Given the description of an element on the screen output the (x, y) to click on. 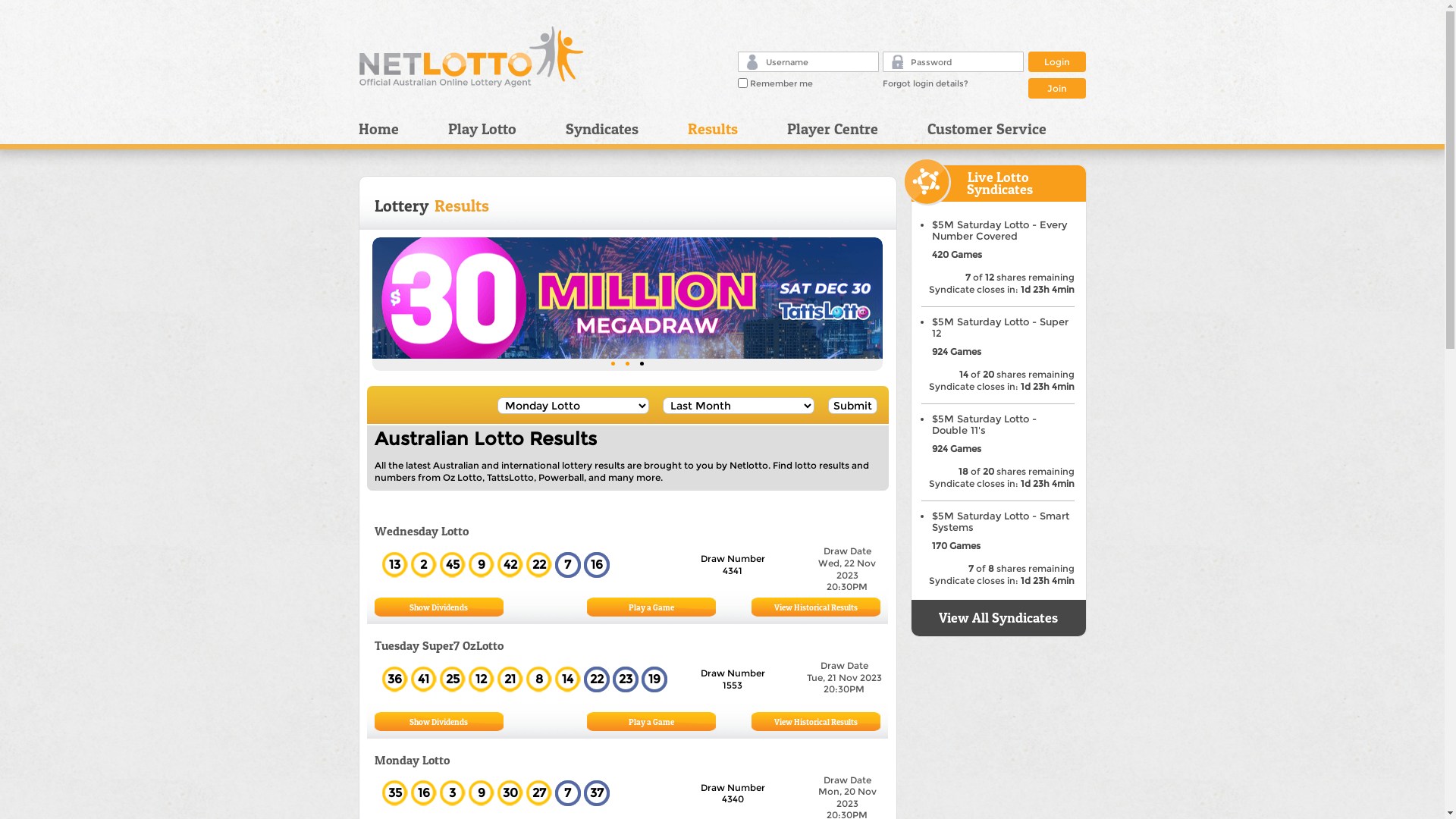
Results Element type: text (725, 128)
Customer Service Element type: text (981, 128)
Player Centre Element type: text (845, 128)
Play a Game Element type: text (650, 721)
Password Element type: hover (897, 61)
$5M Saturday Lotto - Every Number Covered Element type: text (998, 230)
$5M Saturday Lotto - Super 12 Element type: text (999, 327)
View Historical Results Element type: text (815, 721)
View Historical Results Element type: text (815, 606)
Play Lotto Element type: text (495, 128)
$5M Saturday Lotto - Smart Systems Element type: text (999, 521)
Login Element type: text (1056, 61)
Email Element type: hover (751, 61)
Syndicates Element type: text (614, 128)
Forgot login details? Element type: text (925, 83)
Show Dividends Element type: text (438, 606)
Netlotto Element type: hover (471, 56)
Submit Element type: text (852, 405)
Home Element type: text (396, 128)
$5M Saturday Lotto - Double 11's Element type: text (983, 424)
View All Syndicates Element type: text (997, 617)
Play a Game Element type: text (650, 606)
Show Dividends Element type: text (438, 721)
Join Element type: text (1056, 86)
